Given the description of an element on the screen output the (x, y) to click on. 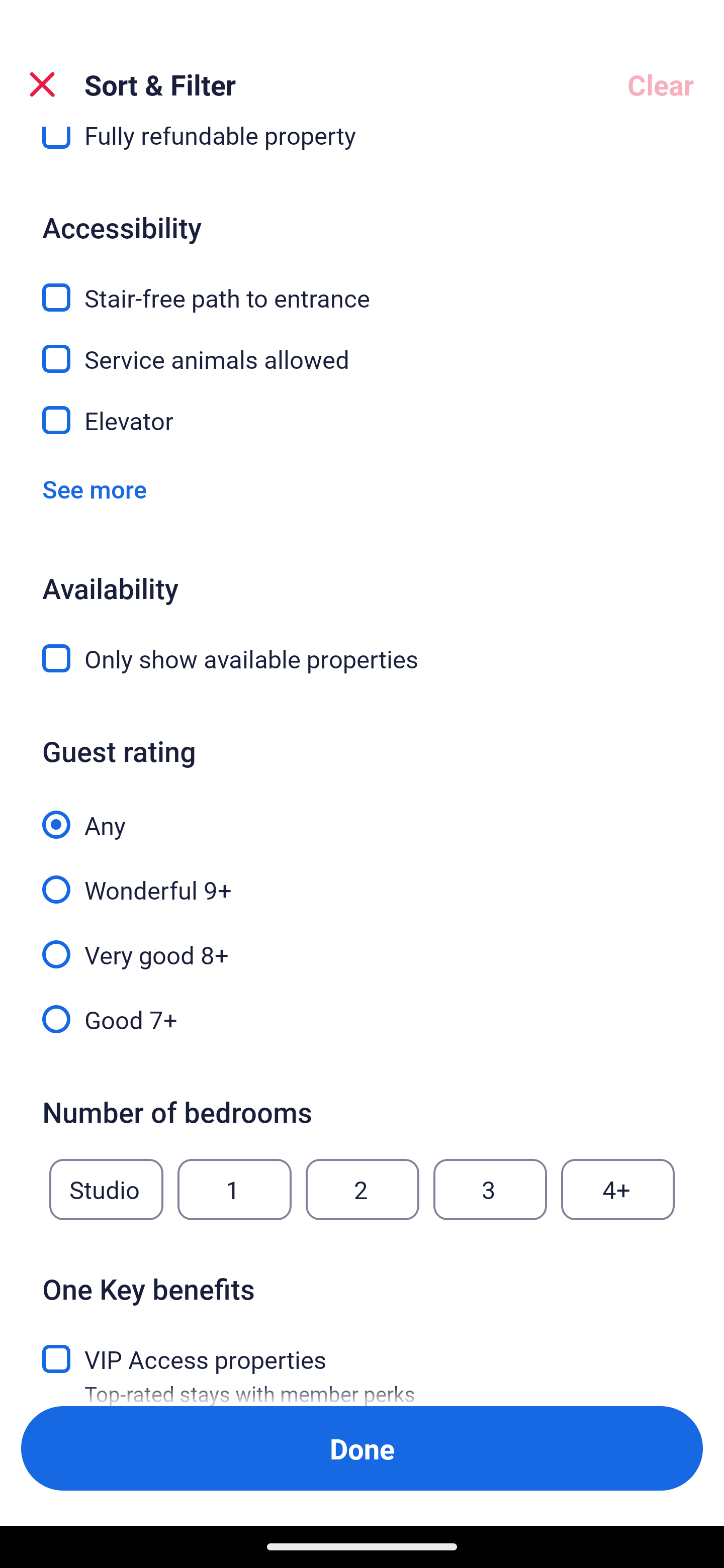
Close Sort and Filter (42, 84)
Clear (660, 84)
Service animals allowed, Service animals allowed (361, 346)
Elevator, Elevator (361, 419)
See more See more accessibility options Link (93, 488)
Wonderful 9+ (361, 878)
Very good 8+ (361, 943)
Good 7+ (361, 1017)
Studio (106, 1189)
1 (234, 1189)
2 (362, 1189)
3 (490, 1189)
4+ (617, 1189)
Apply and close Sort and Filter Done (361, 1448)
